Given the description of an element on the screen output the (x, y) to click on. 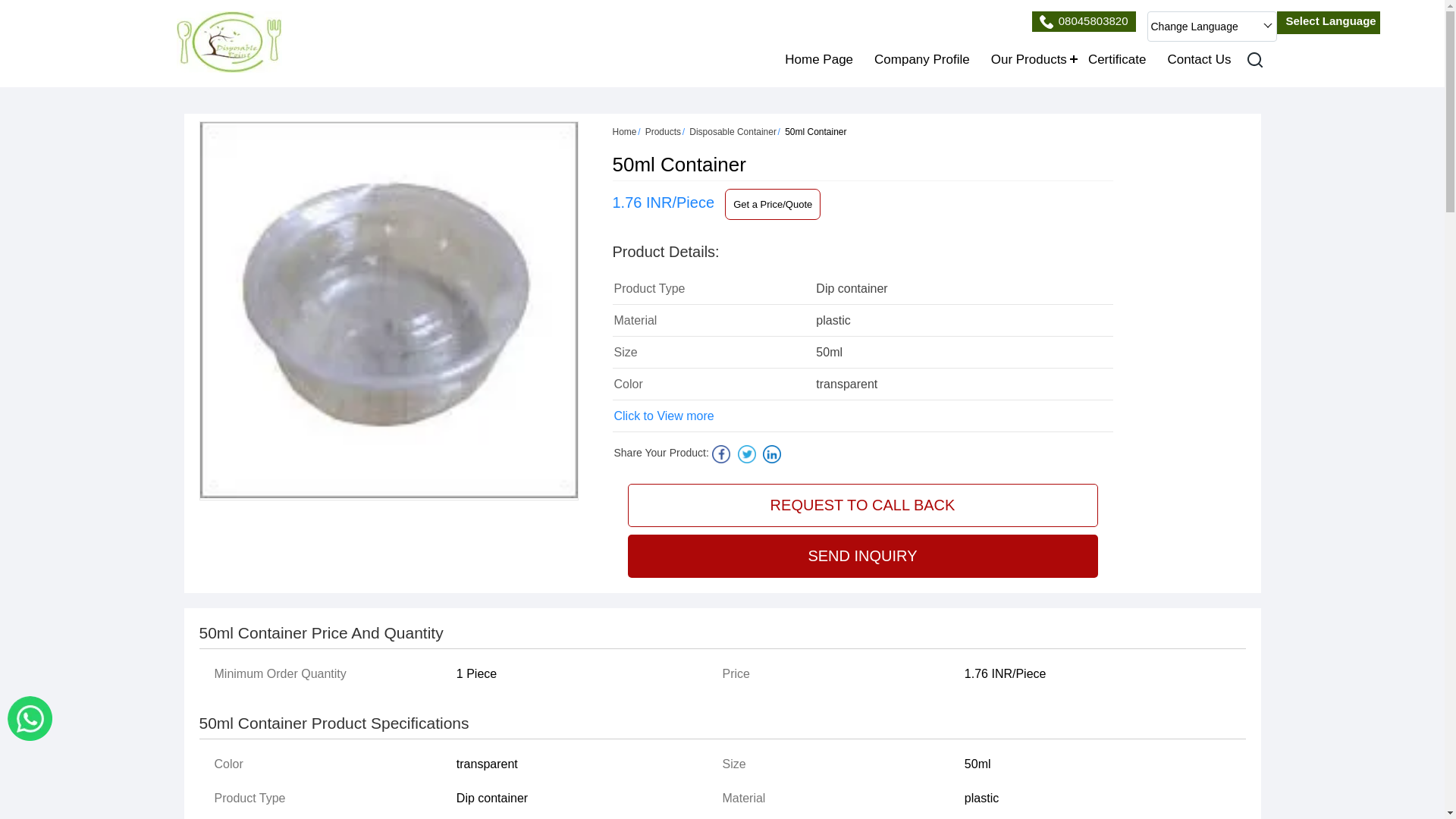
Company Profile (921, 59)
Our Products (1028, 59)
Disposable Point (228, 41)
Home Page (818, 59)
Select Language (1328, 21)
